Given the description of an element on the screen output the (x, y) to click on. 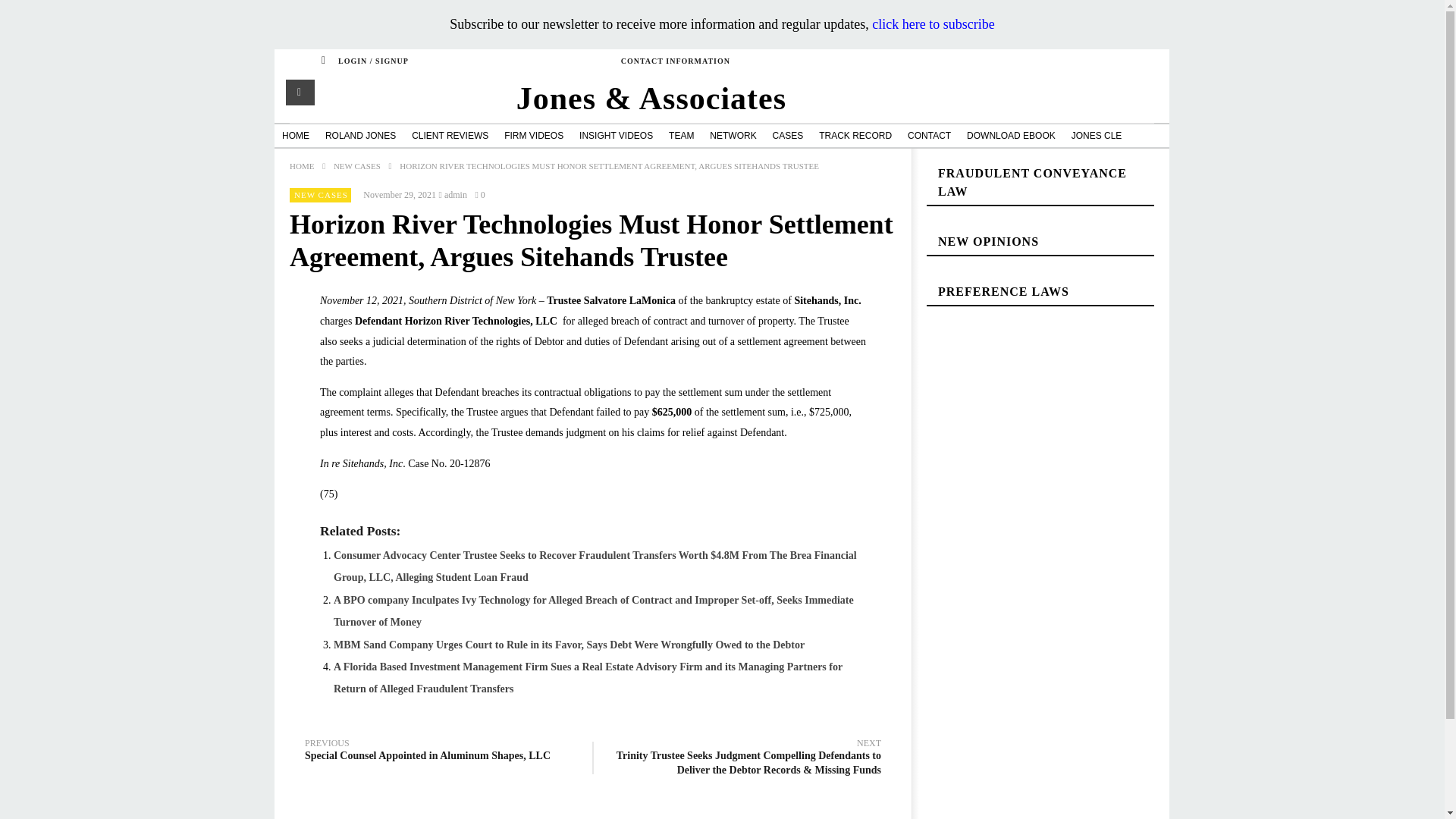
CONTACT (928, 135)
NETWORK (731, 135)
ROLAND JONES (360, 135)
View all posts in New Cases (320, 194)
Posts by admin (454, 195)
INSIGHT VIDEOS (616, 135)
November 29, 2021 (398, 194)
JONES CLE (1096, 135)
NEW CASES (356, 165)
CLIENT REVIEWS (450, 135)
FIRM VIDEOS (533, 135)
NEW CASES (320, 194)
